Given the description of an element on the screen output the (x, y) to click on. 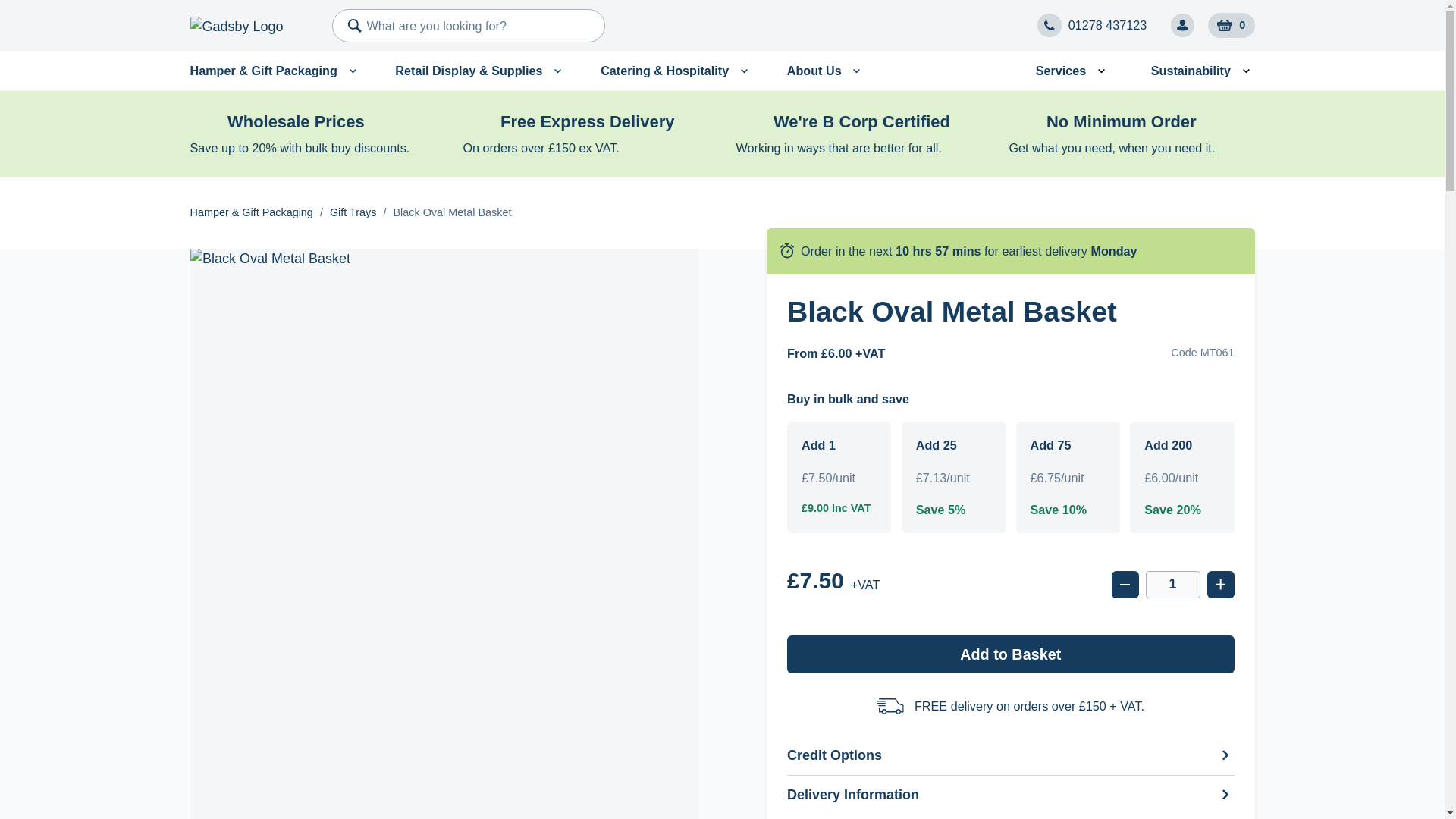
1 (1171, 584)
